Given the description of an element on the screen output the (x, y) to click on. 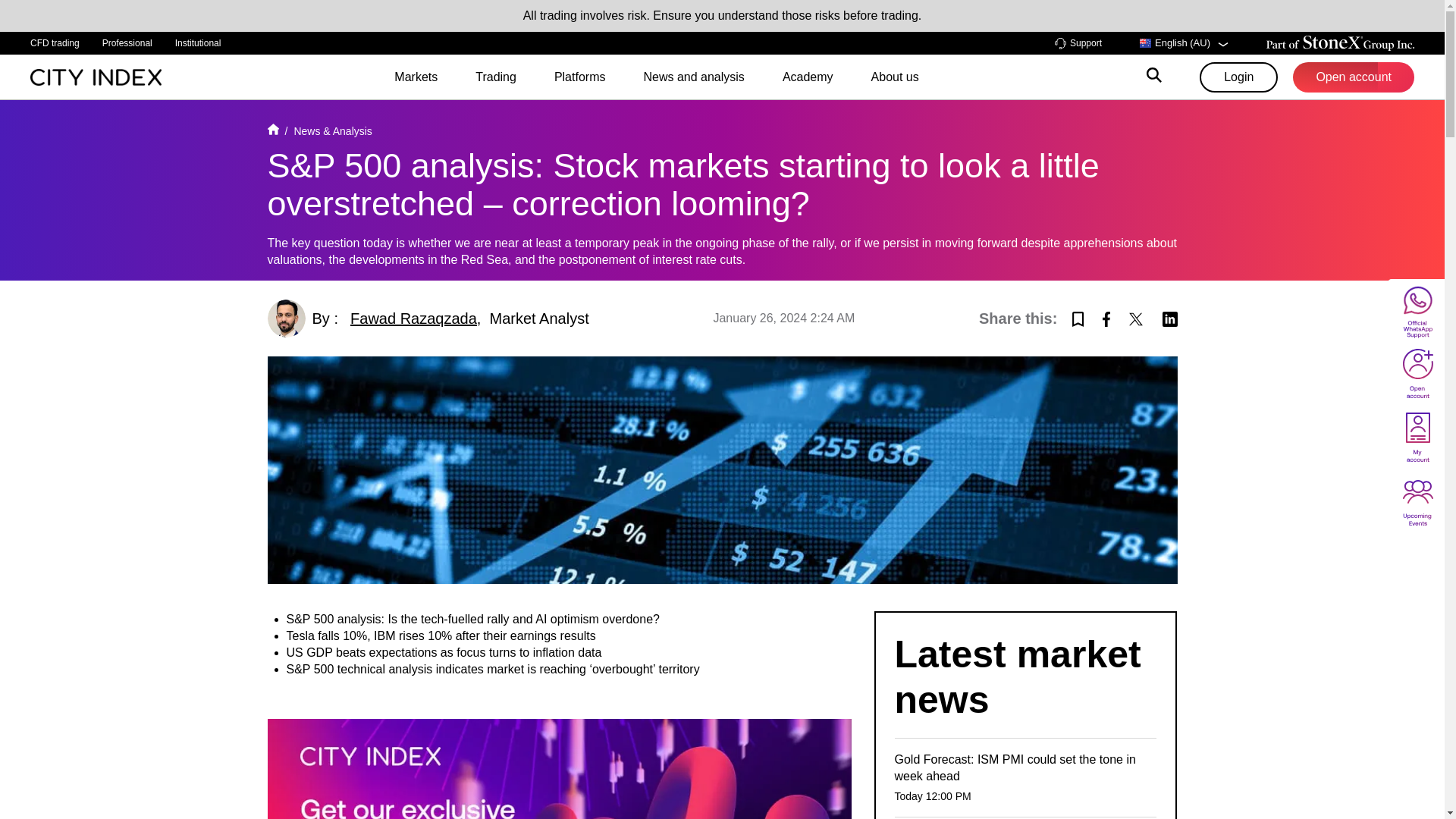
search (1154, 77)
Share to LinkedIn (1168, 317)
Institutional (197, 42)
News and Analysis (332, 131)
Fawad Razaqzada (413, 318)
Support (1078, 43)
Home (272, 131)
Professional (126, 42)
Share to X (1135, 317)
CFD trading (55, 42)
Home (95, 76)
